Given the description of an element on the screen output the (x, y) to click on. 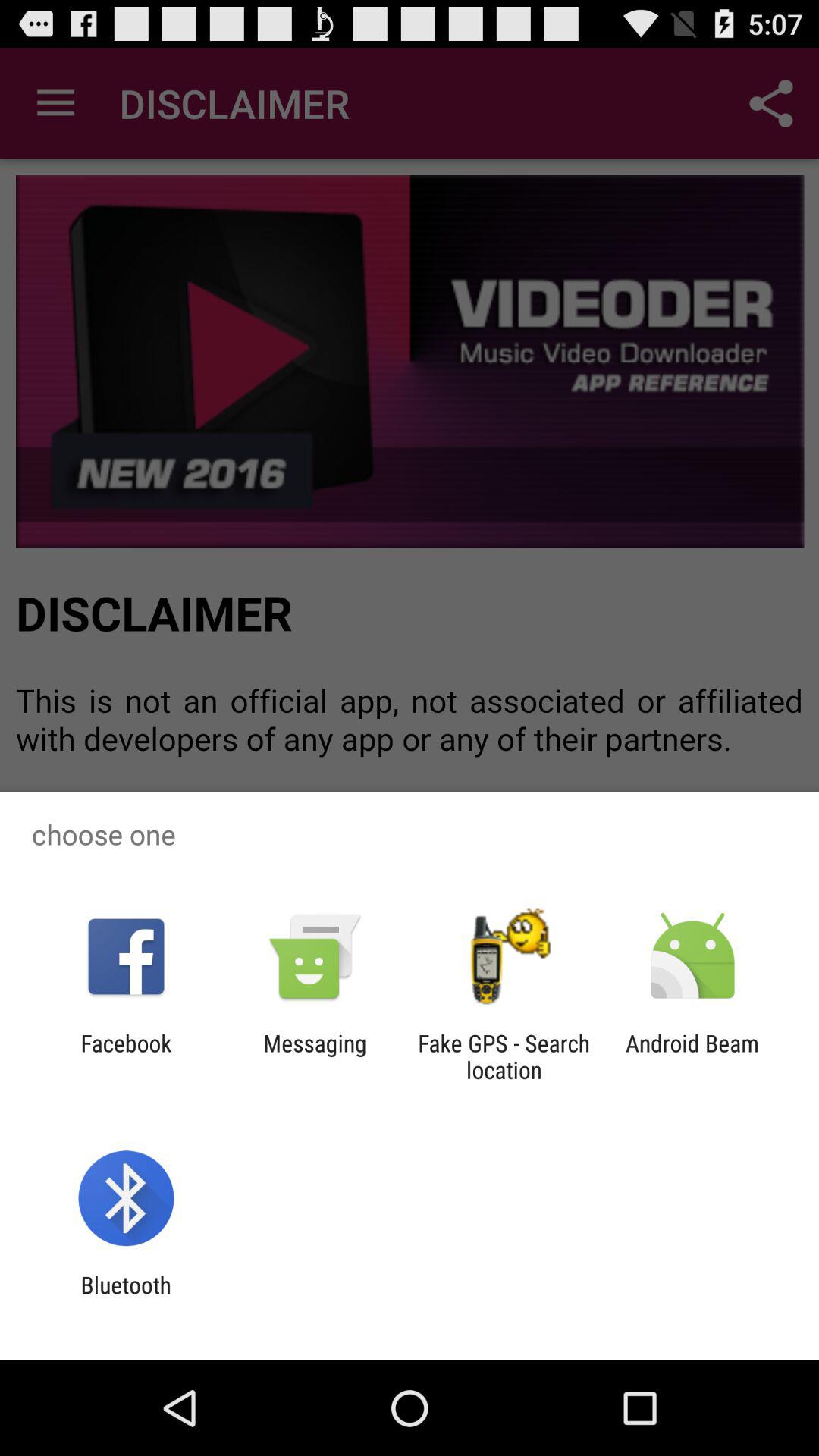
open the item to the left of the fake gps search icon (314, 1056)
